Given the description of an element on the screen output the (x, y) to click on. 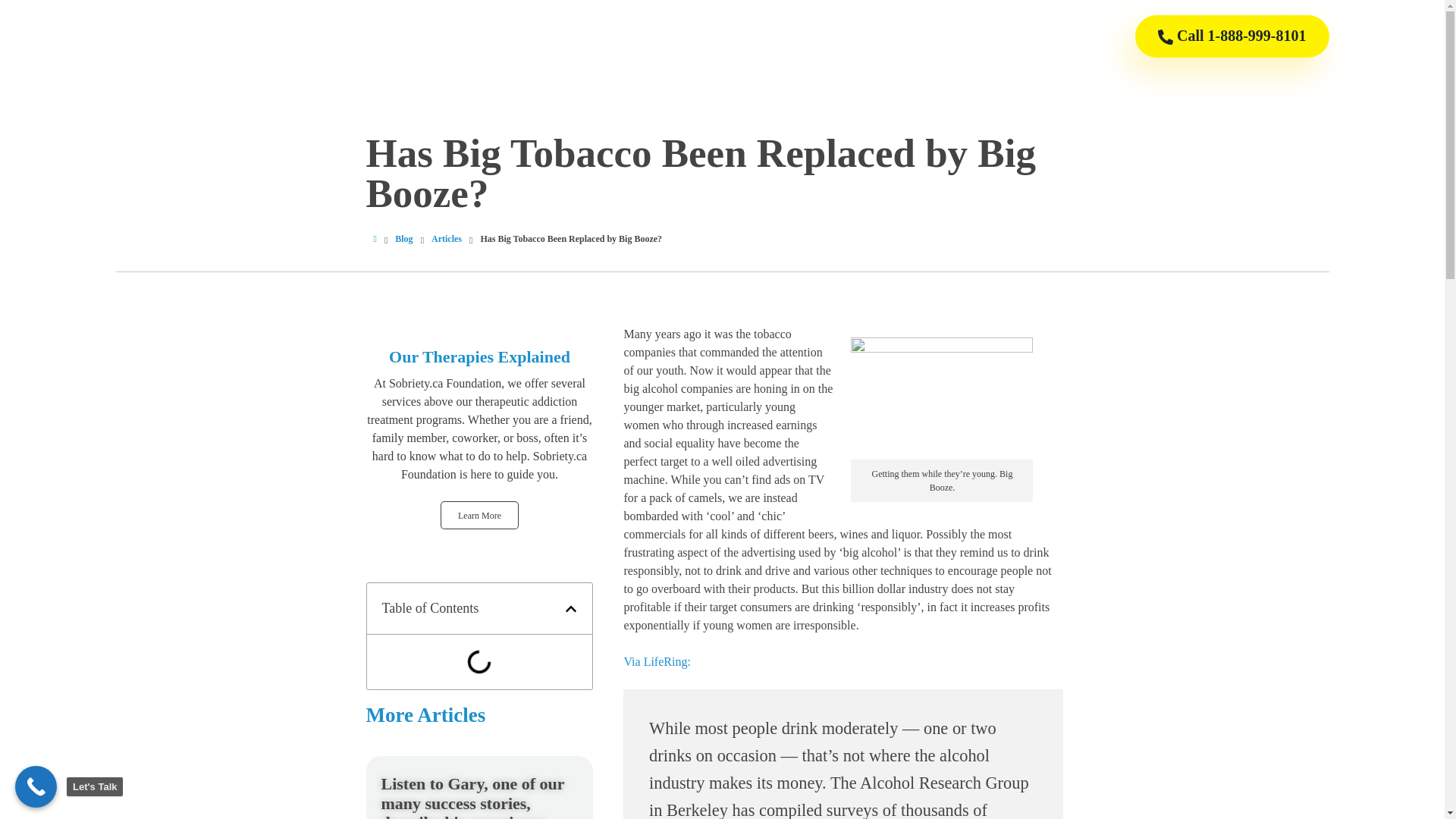
Blog (403, 238)
Articles (445, 238)
Let's Talk (35, 786)
Blog (403, 238)
Learn More (479, 515)
Articles (445, 238)
Via LifeRing: (656, 661)
Call 1-888-999-8101 (1232, 36)
Our Therapies Explained (479, 356)
